Given the description of an element on the screen output the (x, y) to click on. 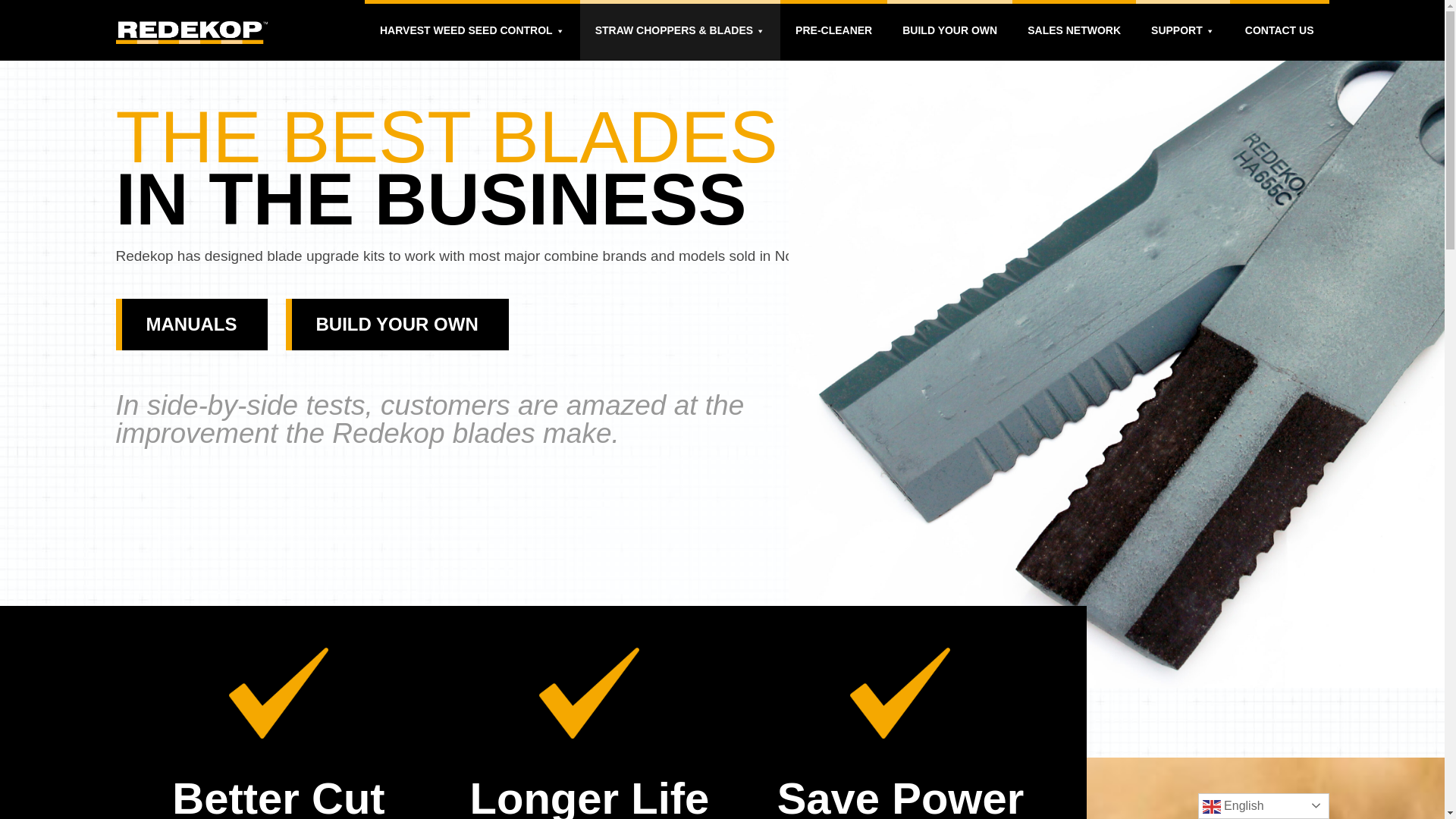
MANUALS (190, 324)
CONTACT US (1279, 30)
BUILD YOUR OWN (396, 324)
PRE-CLEANER (833, 30)
SALES NETWORK (1073, 30)
BUILD YOUR OWN (948, 30)
HARVEST WEED SEED CONTROL (472, 30)
SUPPORT (1182, 30)
